Given the description of an element on the screen output the (x, y) to click on. 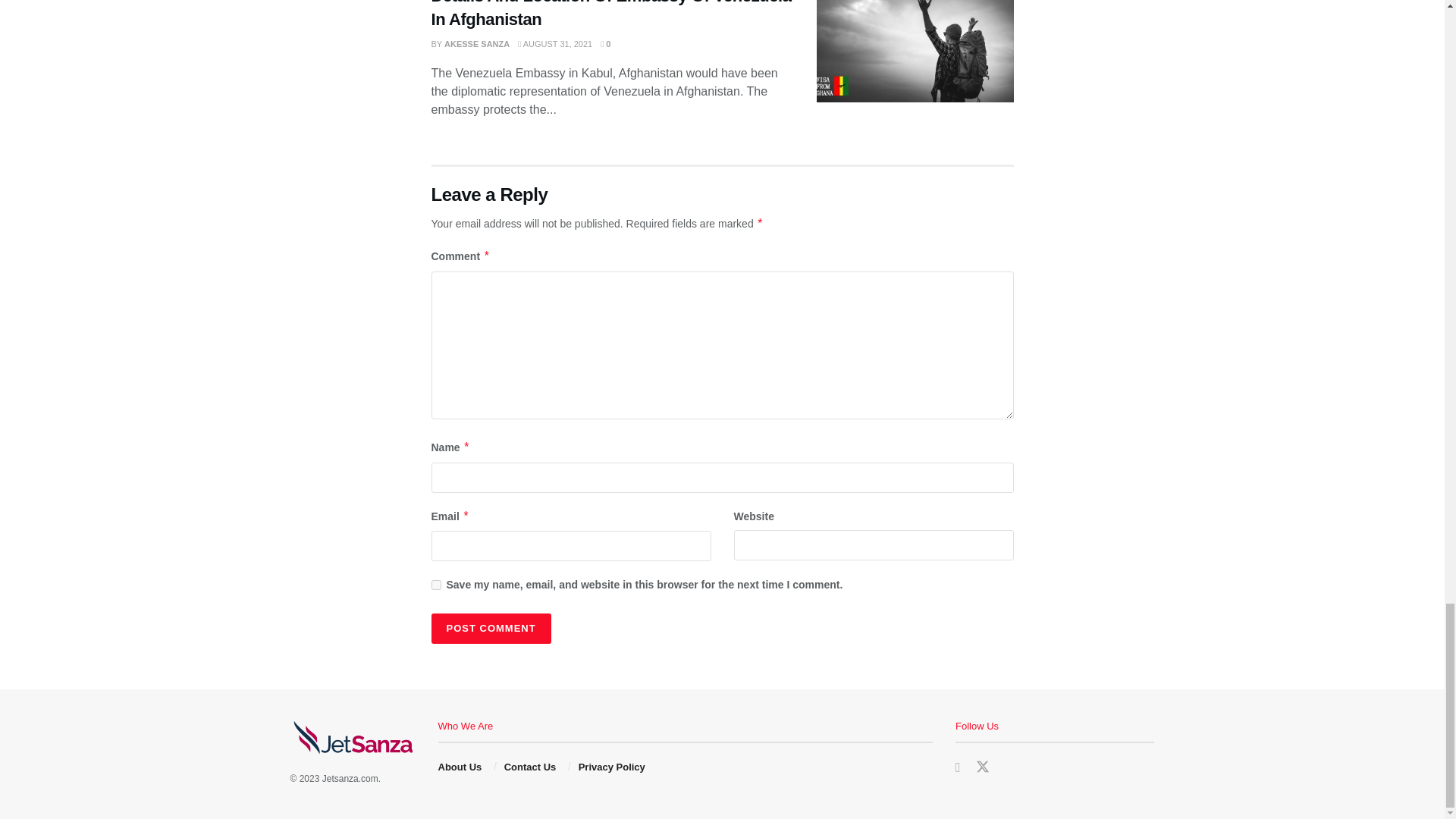
Post Comment (490, 628)
yes (435, 584)
Travel Blog of Akesse Sanza (349, 778)
